Given the description of an element on the screen output the (x, y) to click on. 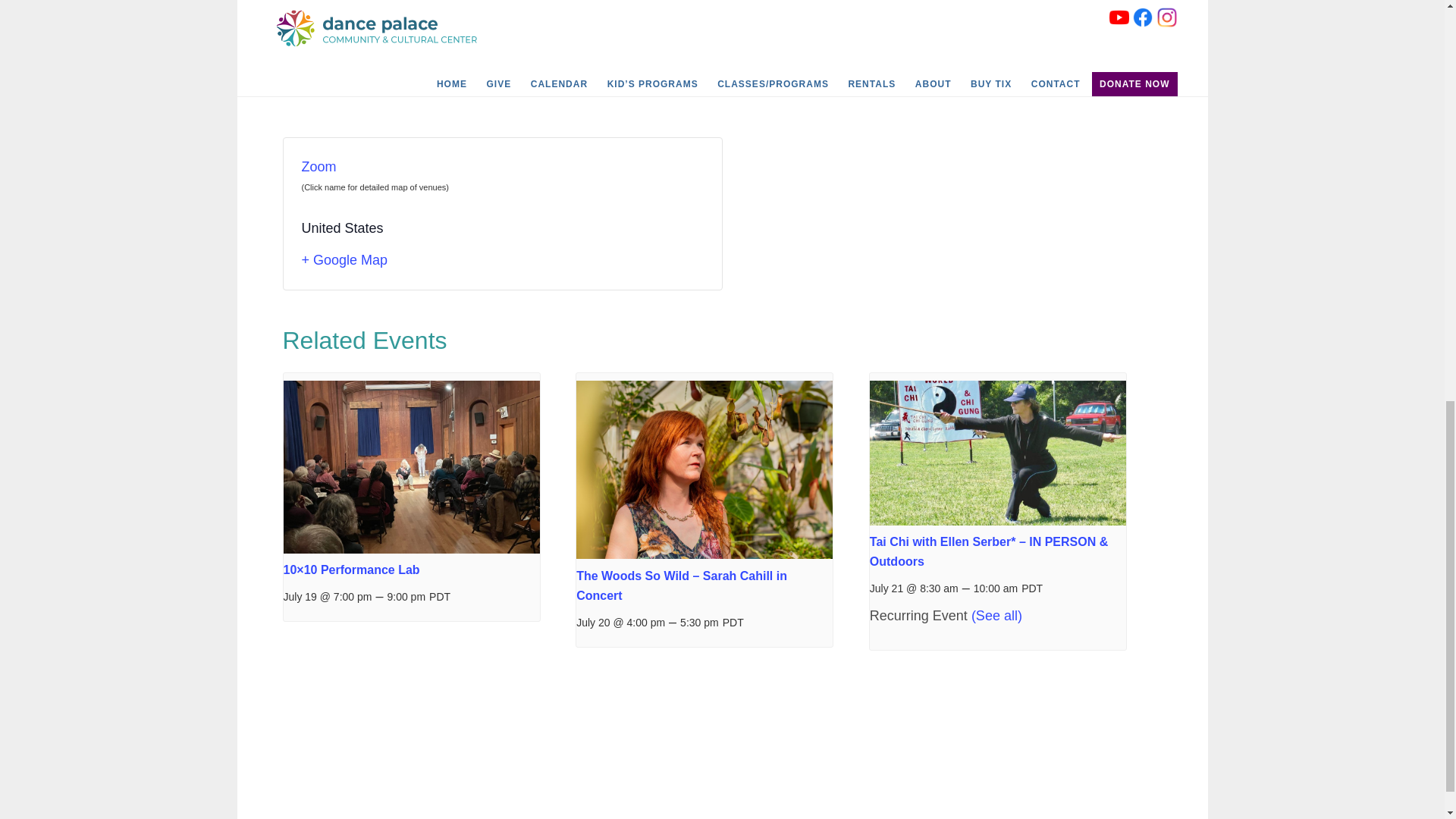
Zoom (318, 166)
Gina Tanner (319, 76)
Click to view a Google Map (502, 260)
